Given the description of an element on the screen output the (x, y) to click on. 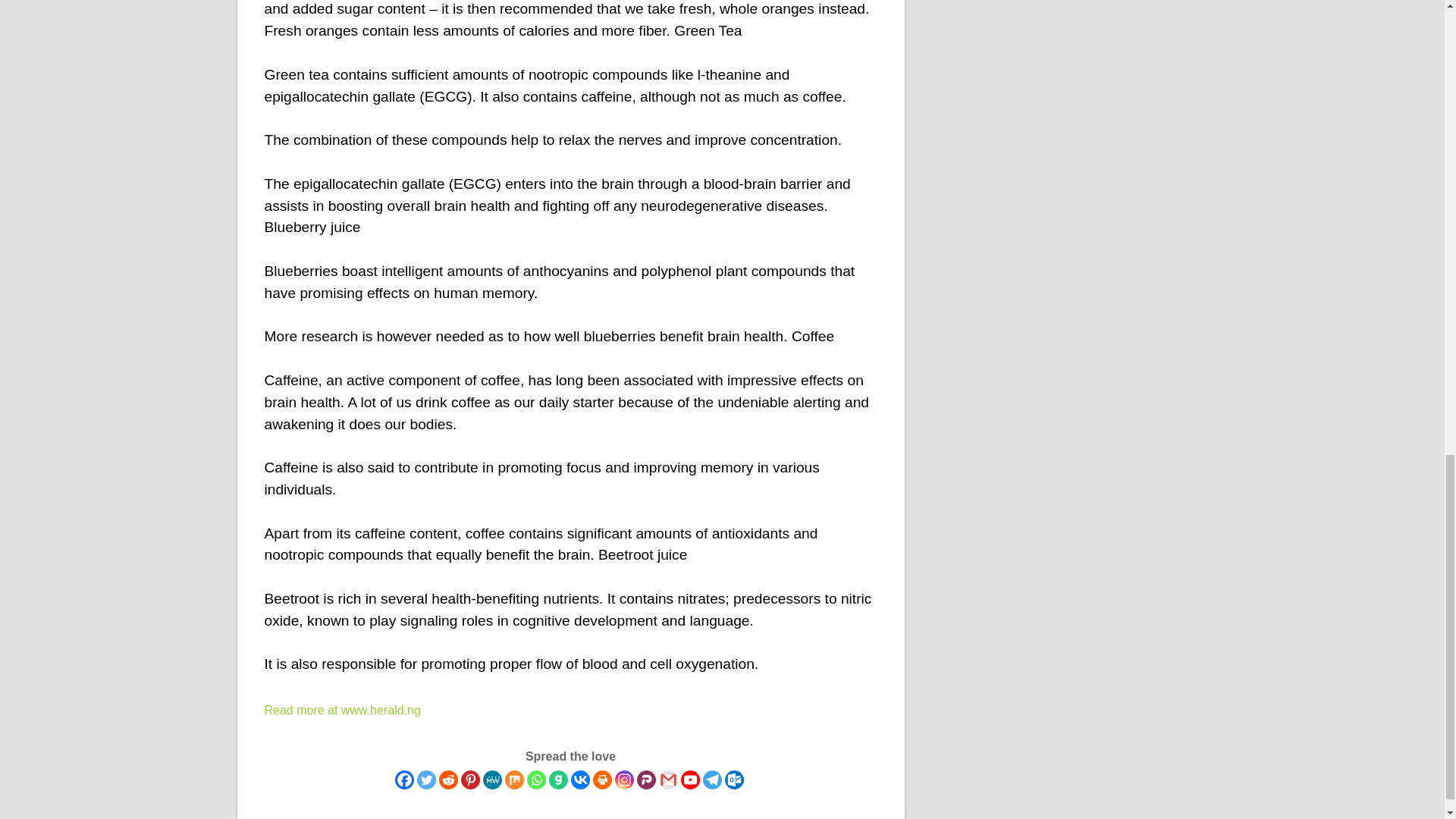
Mix (514, 779)
Read more at www.herald.ng (341, 709)
MeWe (490, 779)
Pinterest (470, 779)
Parler (646, 779)
Whatsapp (534, 779)
Twitter (425, 779)
Reddit (447, 779)
Gab (557, 779)
Print (601, 779)
